Given the description of an element on the screen output the (x, y) to click on. 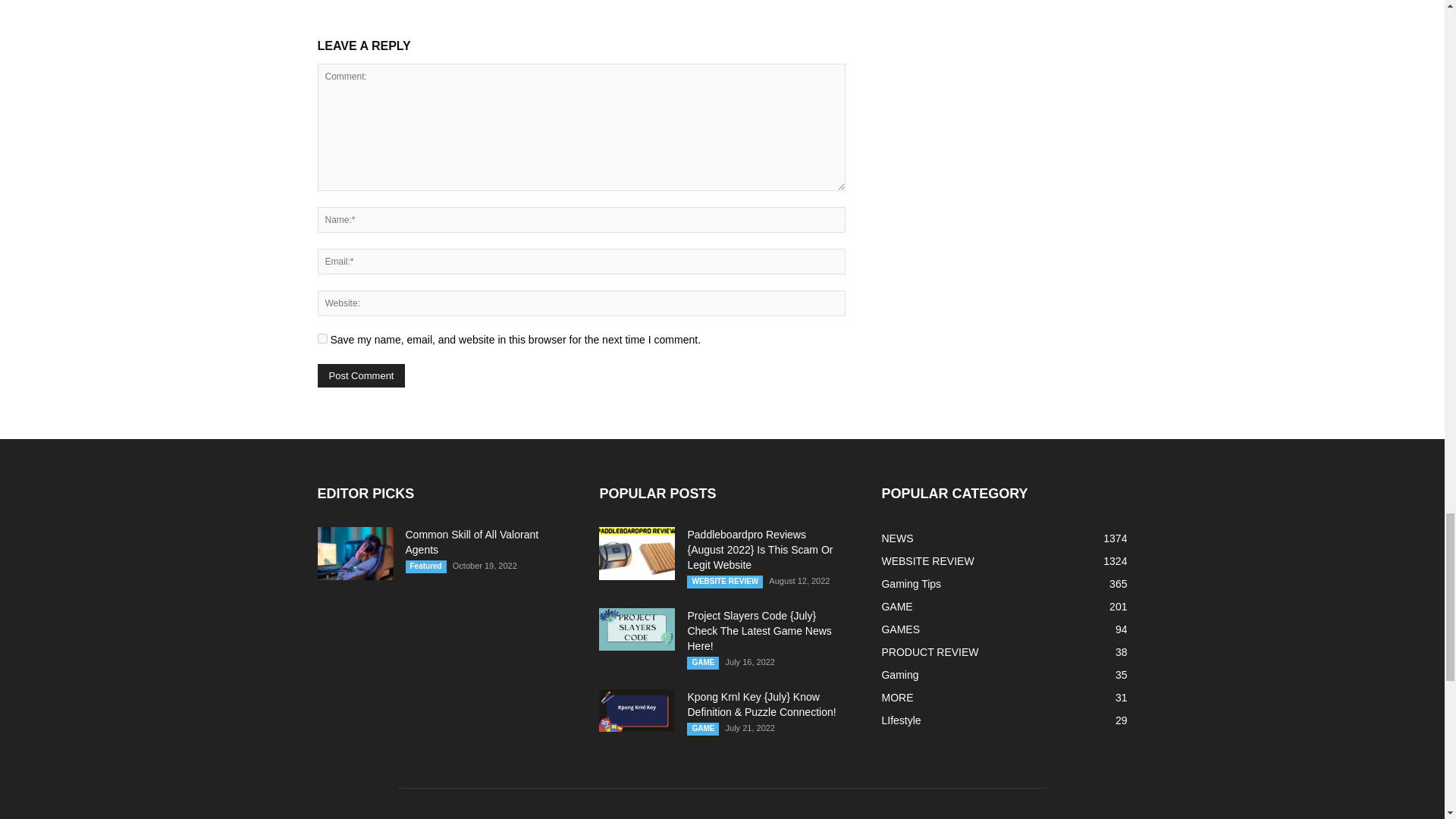
Post Comment (360, 375)
yes (321, 338)
